Given the description of an element on the screen output the (x, y) to click on. 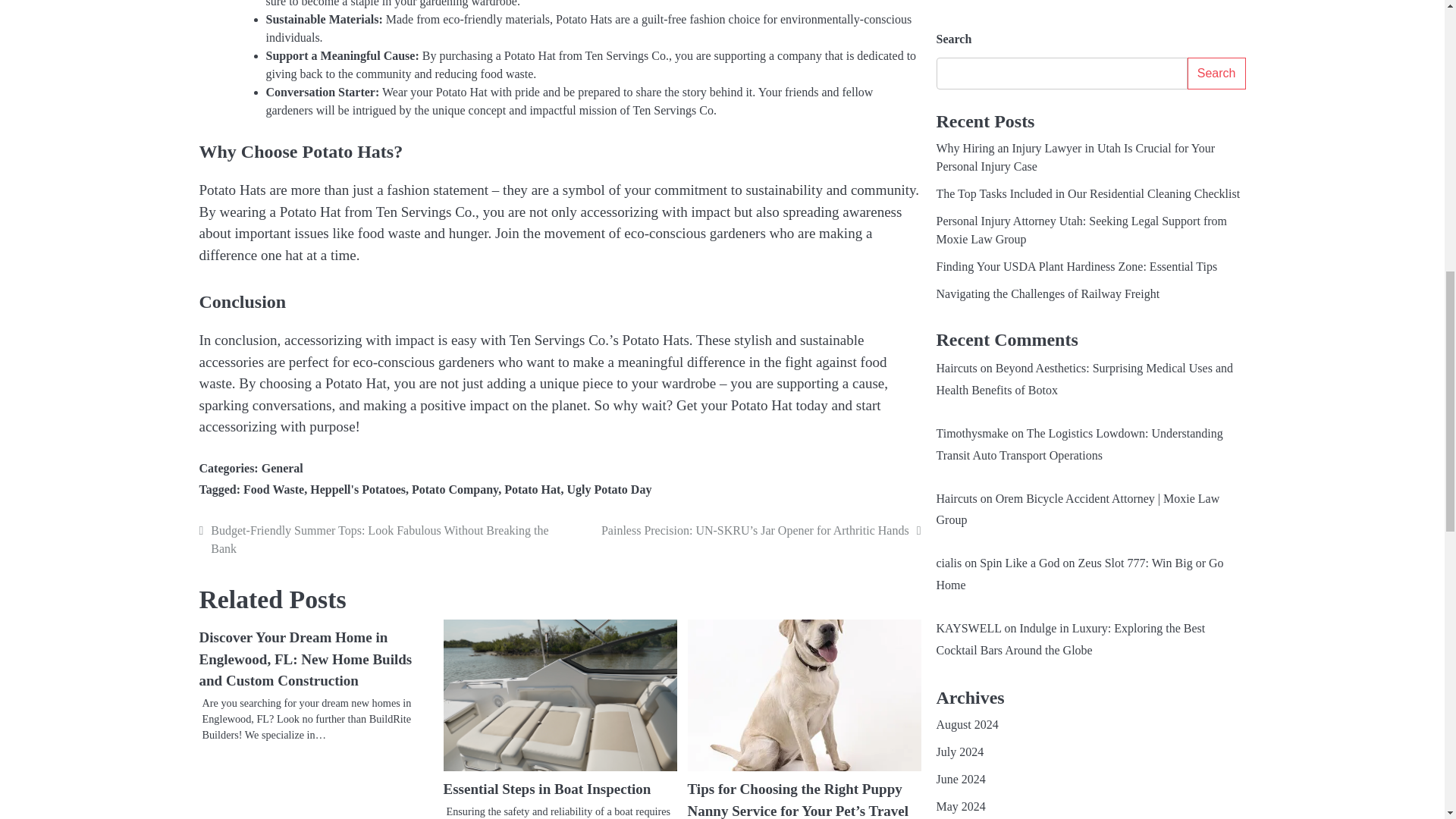
Ugly Potato Day (608, 489)
General (282, 468)
Potato Hat (531, 489)
Potato Company (454, 489)
Essential Steps in Boat Inspection (546, 788)
August 2024 (966, 32)
Food Waste (273, 489)
Heppell's Potatoes (358, 489)
